Given the description of an element on the screen output the (x, y) to click on. 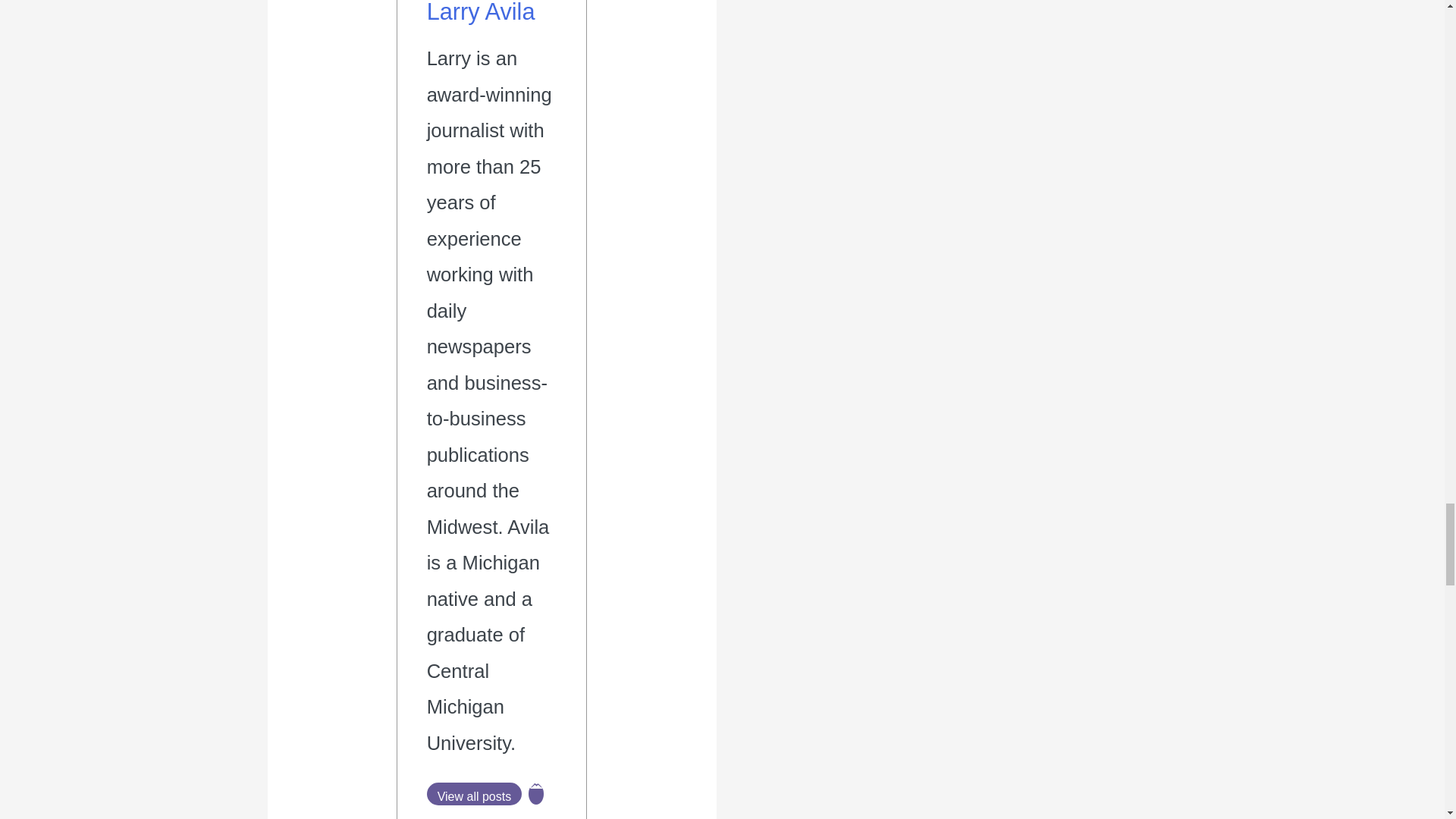
View all posts (474, 793)
Larry Avila (480, 12)
